Given the description of an element on the screen output the (x, y) to click on. 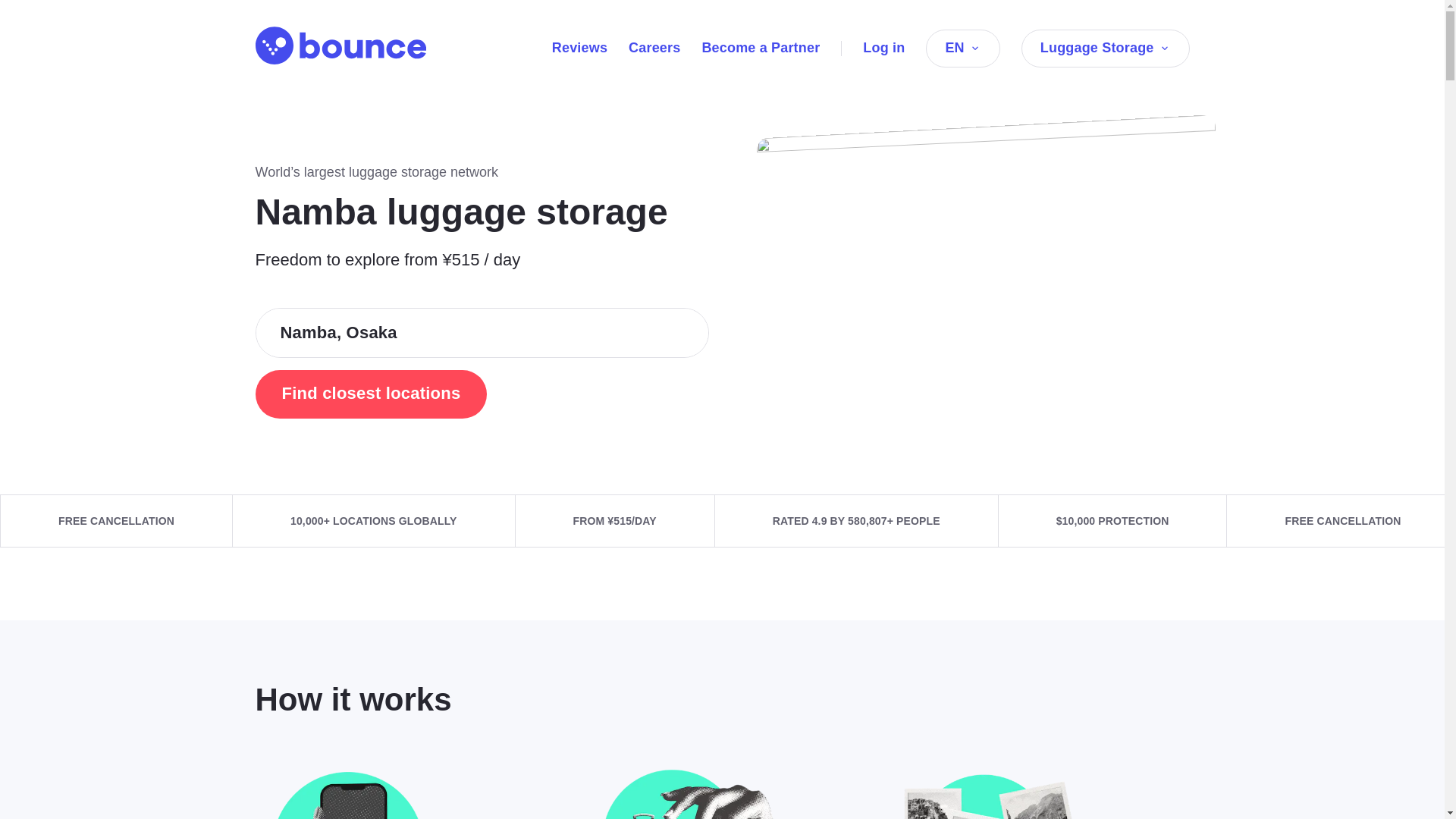
Luggage Storage (1105, 48)
Careers (653, 47)
Log in (883, 47)
Bounce (339, 45)
EN (962, 48)
Find closest locations (370, 394)
Reviews (579, 47)
Namba, Osaka (481, 332)
Become a Partner (760, 47)
